Given the description of an element on the screen output the (x, y) to click on. 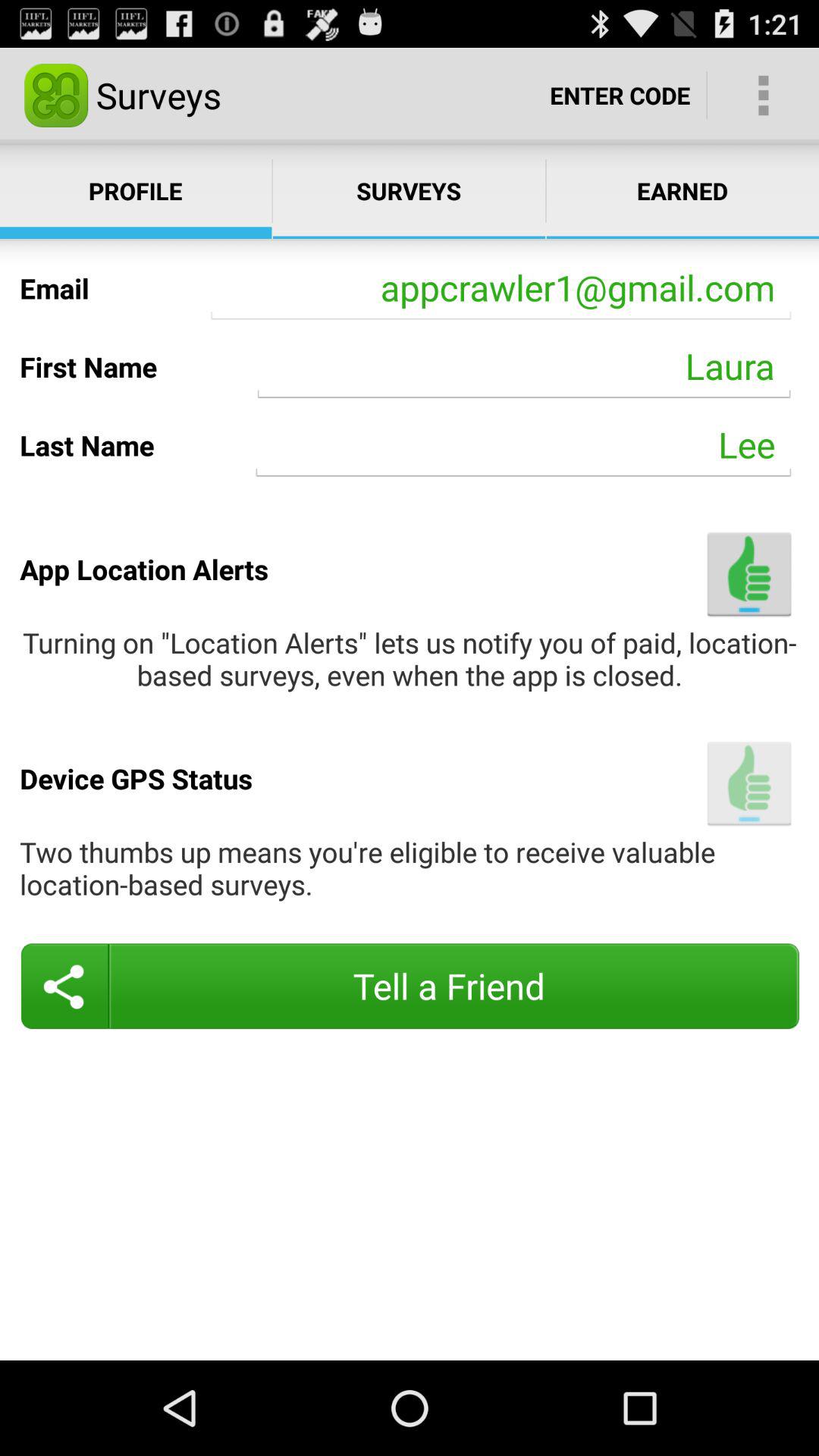
tap the enter code item (620, 95)
